Given the description of an element on the screen output the (x, y) to click on. 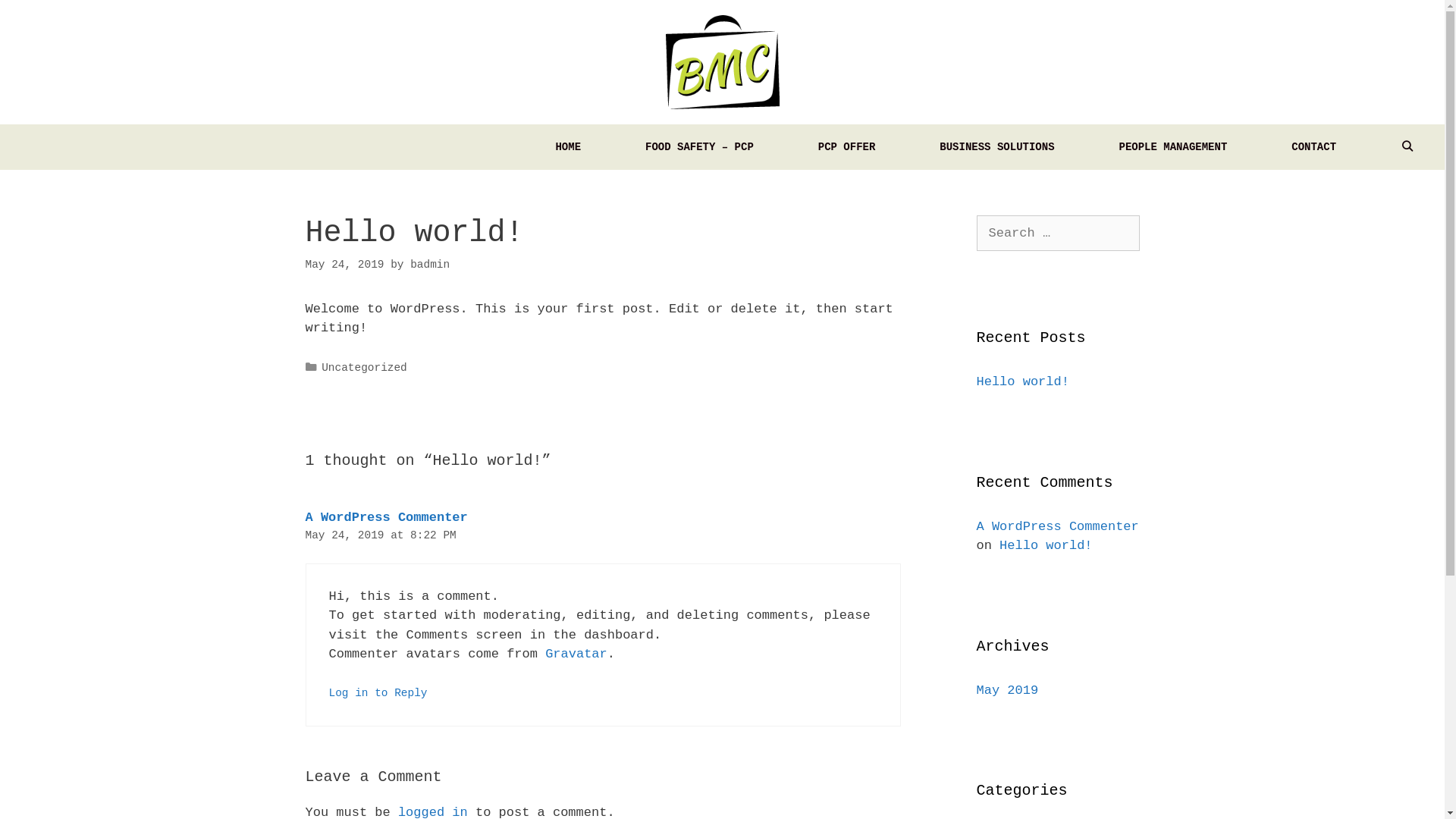
PCP OFFER Element type: text (846, 146)
badmin Element type: text (429, 264)
Log in to Reply Element type: text (378, 693)
Search Element type: text (39, 18)
May 24, 2019 at 8:22 PM Element type: text (379, 535)
A WordPress Commenter Element type: text (385, 517)
Hello world! Element type: text (1045, 545)
A WordPress Commenter Element type: text (1057, 526)
Gravatar Element type: text (576, 653)
May 2019 Element type: text (1007, 690)
Search for: Element type: hover (1057, 233)
HOME Element type: text (567, 146)
Uncategorized Element type: text (364, 367)
PEOPLE MANAGEMENT Element type: text (1172, 146)
Hello world! Element type: text (1022, 381)
CONTACT Element type: text (1313, 146)
BUSINESS SOLUTIONS Element type: text (996, 146)
